Given the description of an element on the screen output the (x, y) to click on. 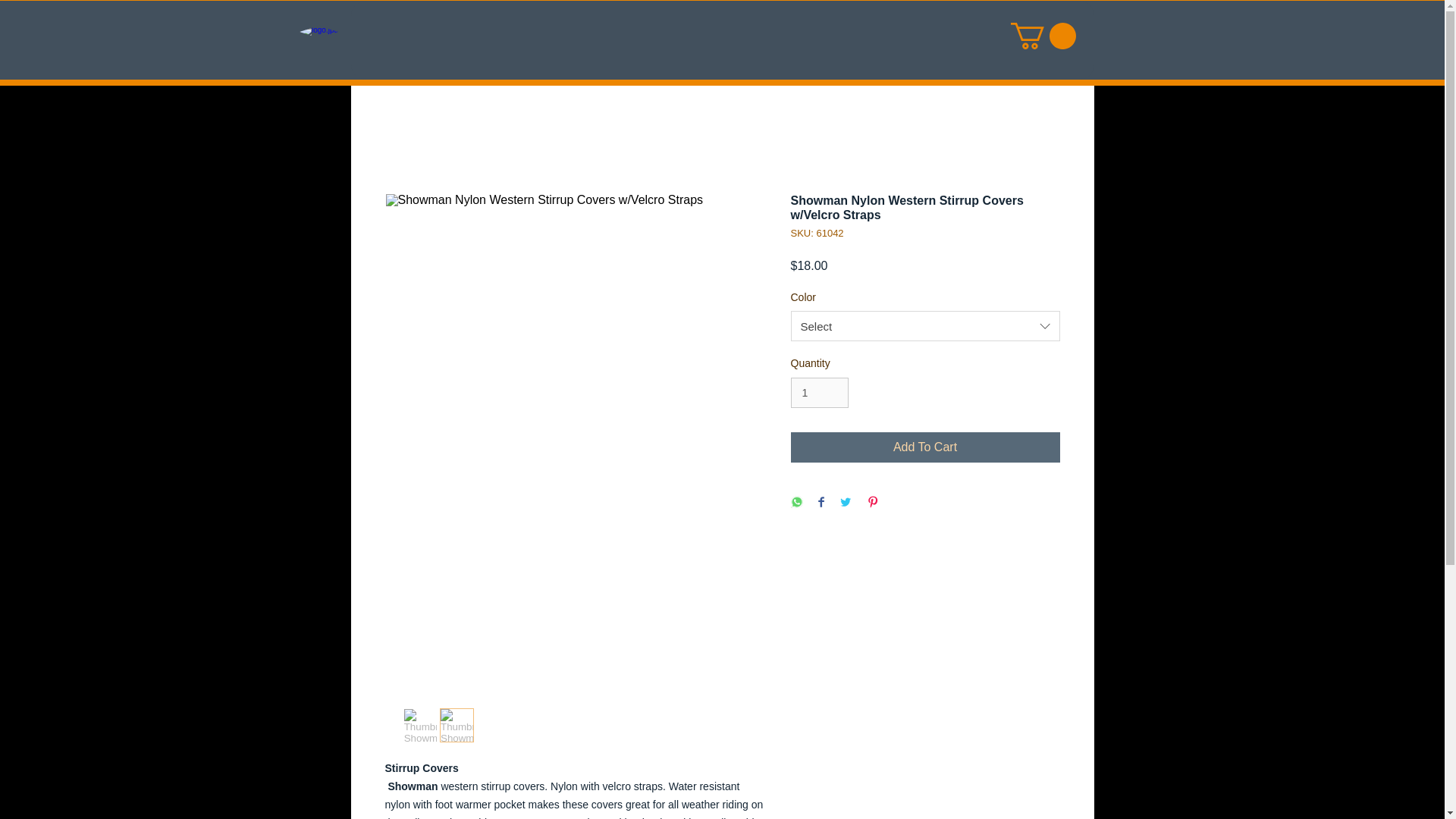
1 (818, 392)
